Given the description of an element on the screen output the (x, y) to click on. 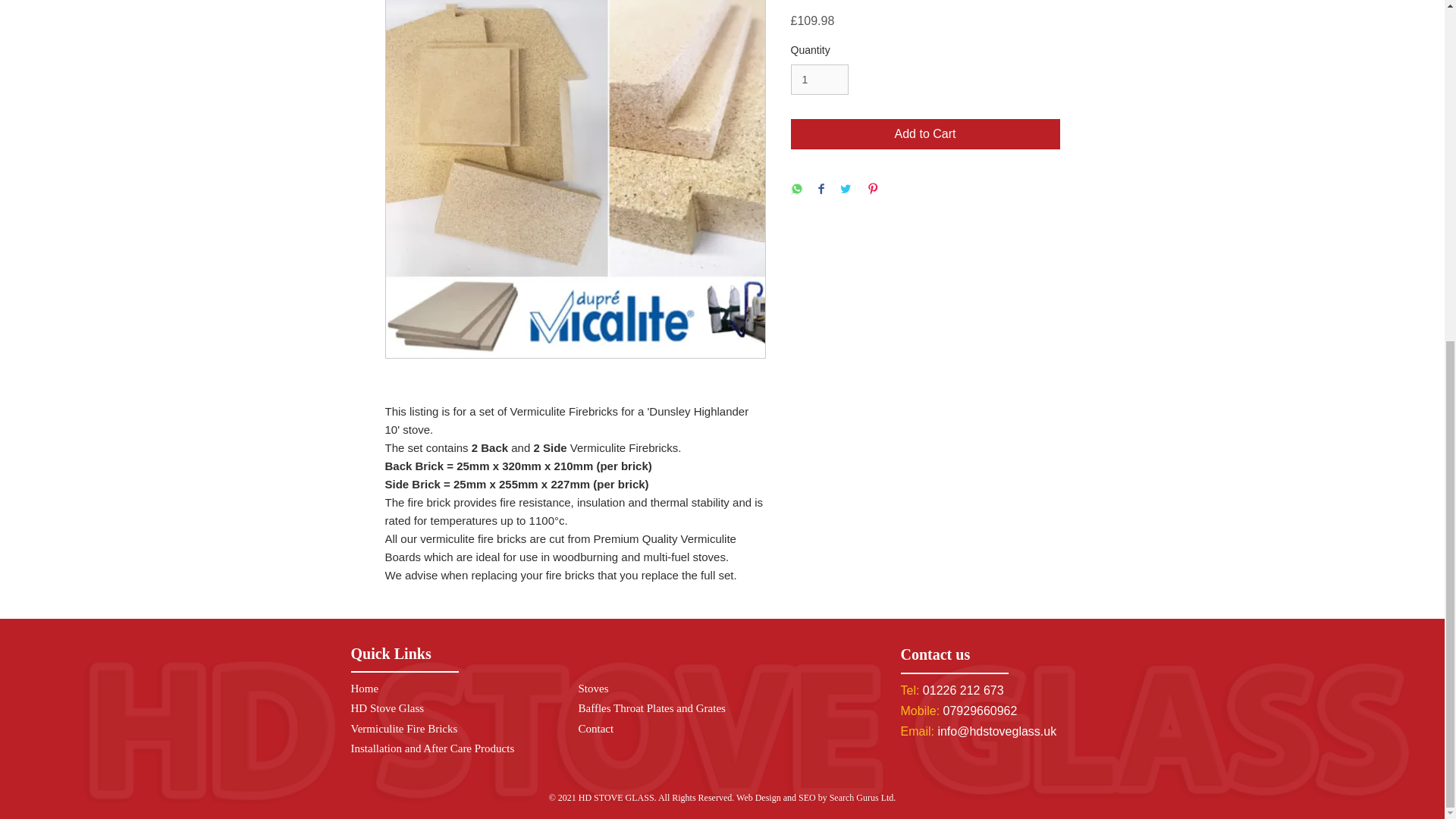
Add to Cart (924, 133)
1 (818, 79)
